Given the description of an element on the screen output the (x, y) to click on. 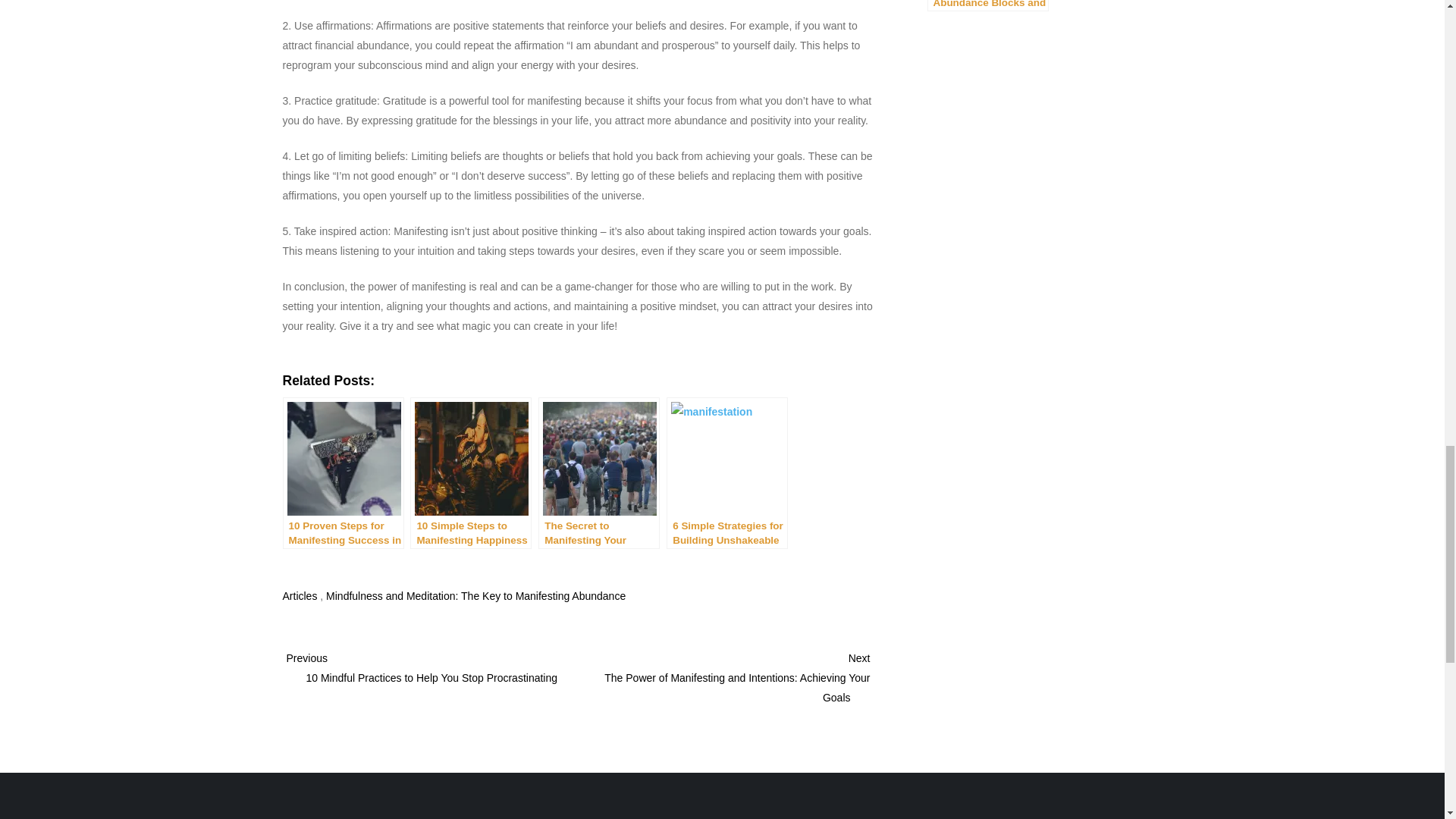
7 Steps to Overcoming Abundance Blocks and Attracting Wealth (987, 5)
Mindfulness and Meditation: The Key to Manifesting Abundance (476, 595)
7 Steps to Overcoming Abundance Blocks and Attracting Wealth (987, 5)
Articles (299, 595)
